Given the description of an element on the screen output the (x, y) to click on. 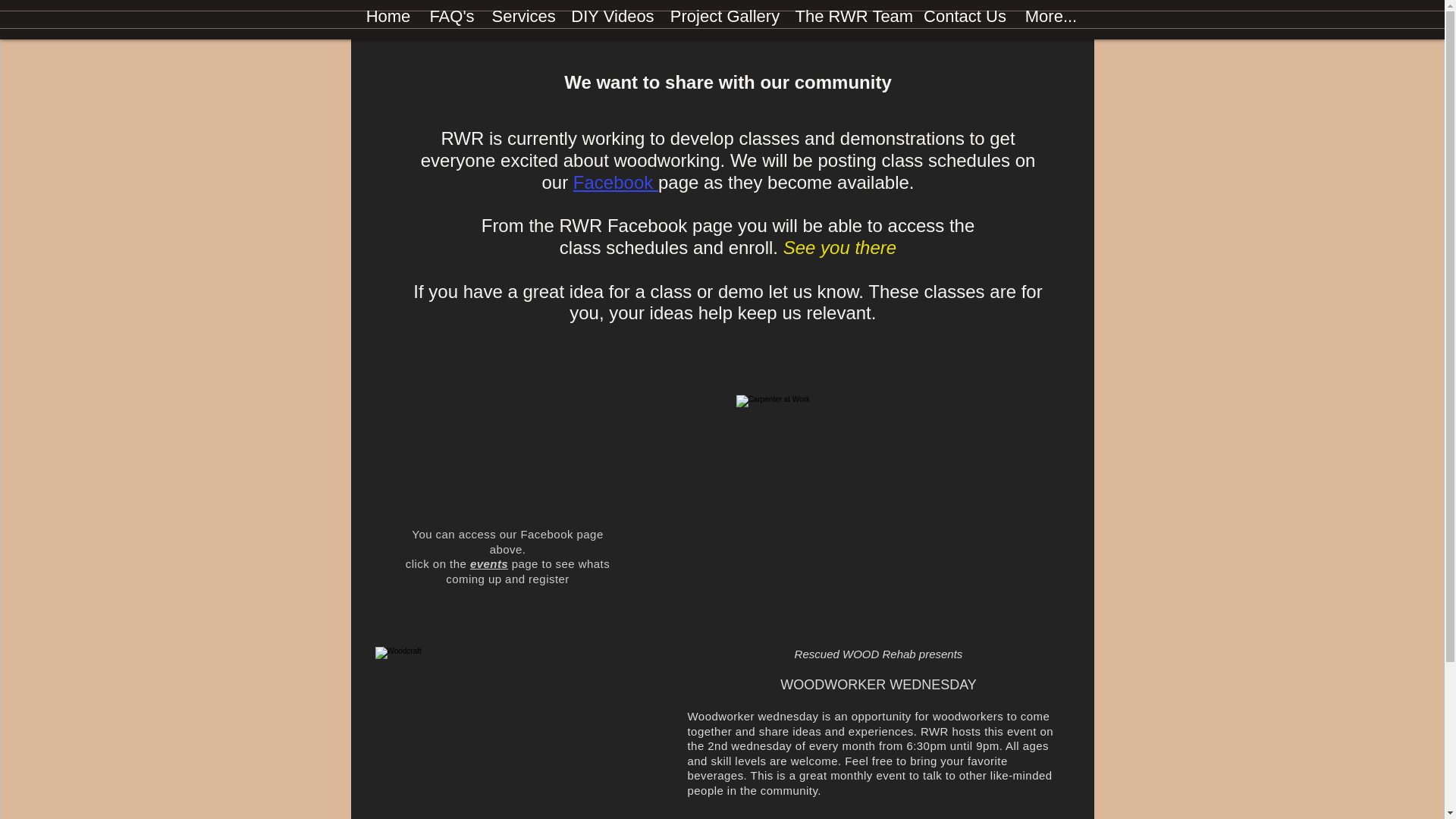
Facebook  (615, 181)
FAQ's (452, 16)
Contact Us (964, 16)
Home (387, 16)
Services (522, 16)
The RWR Team (851, 16)
DIY Videos (612, 16)
events (489, 563)
Project Gallery (724, 16)
